Given the description of an element on the screen output the (x, y) to click on. 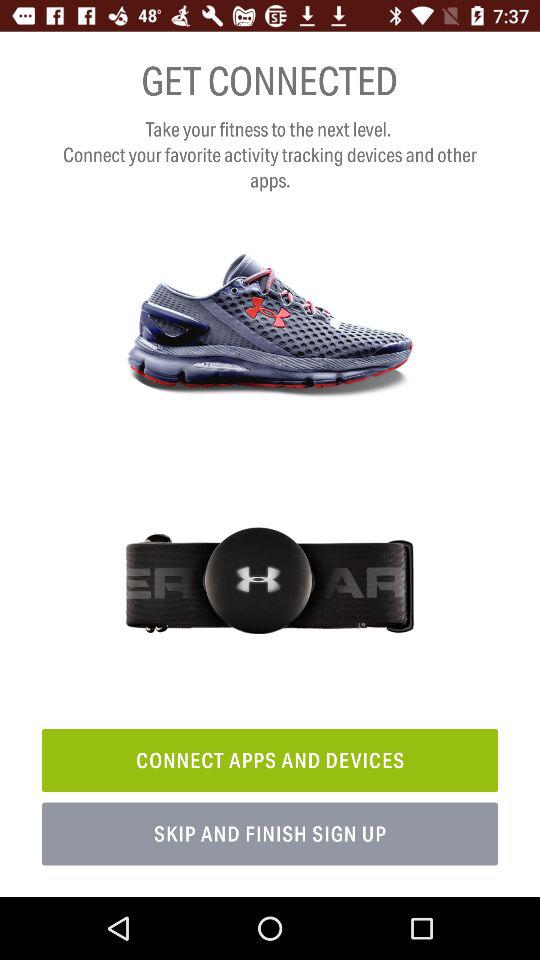
turn on the skip and finish icon (269, 833)
